Given the description of an element on the screen output the (x, y) to click on. 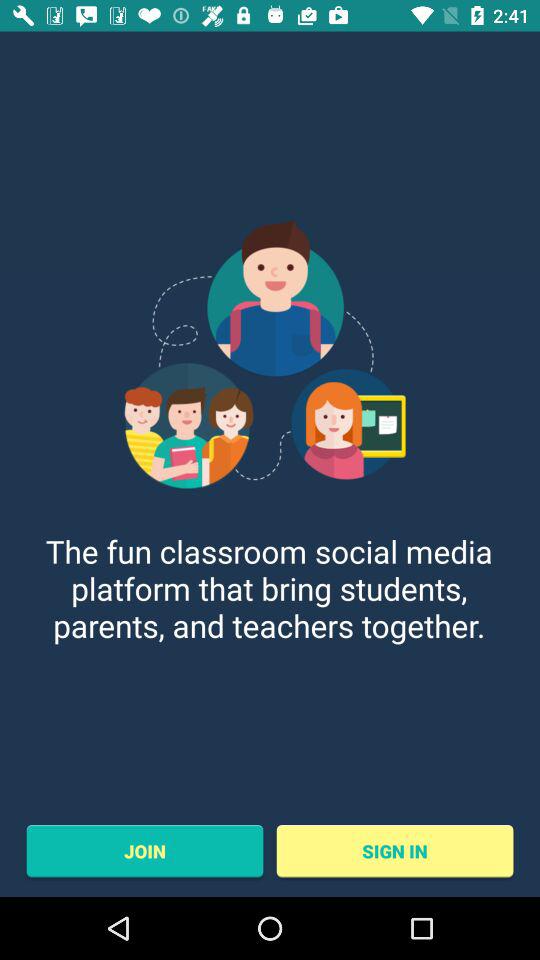
swipe to the sign in item (394, 851)
